Given the description of an element on the screen output the (x, y) to click on. 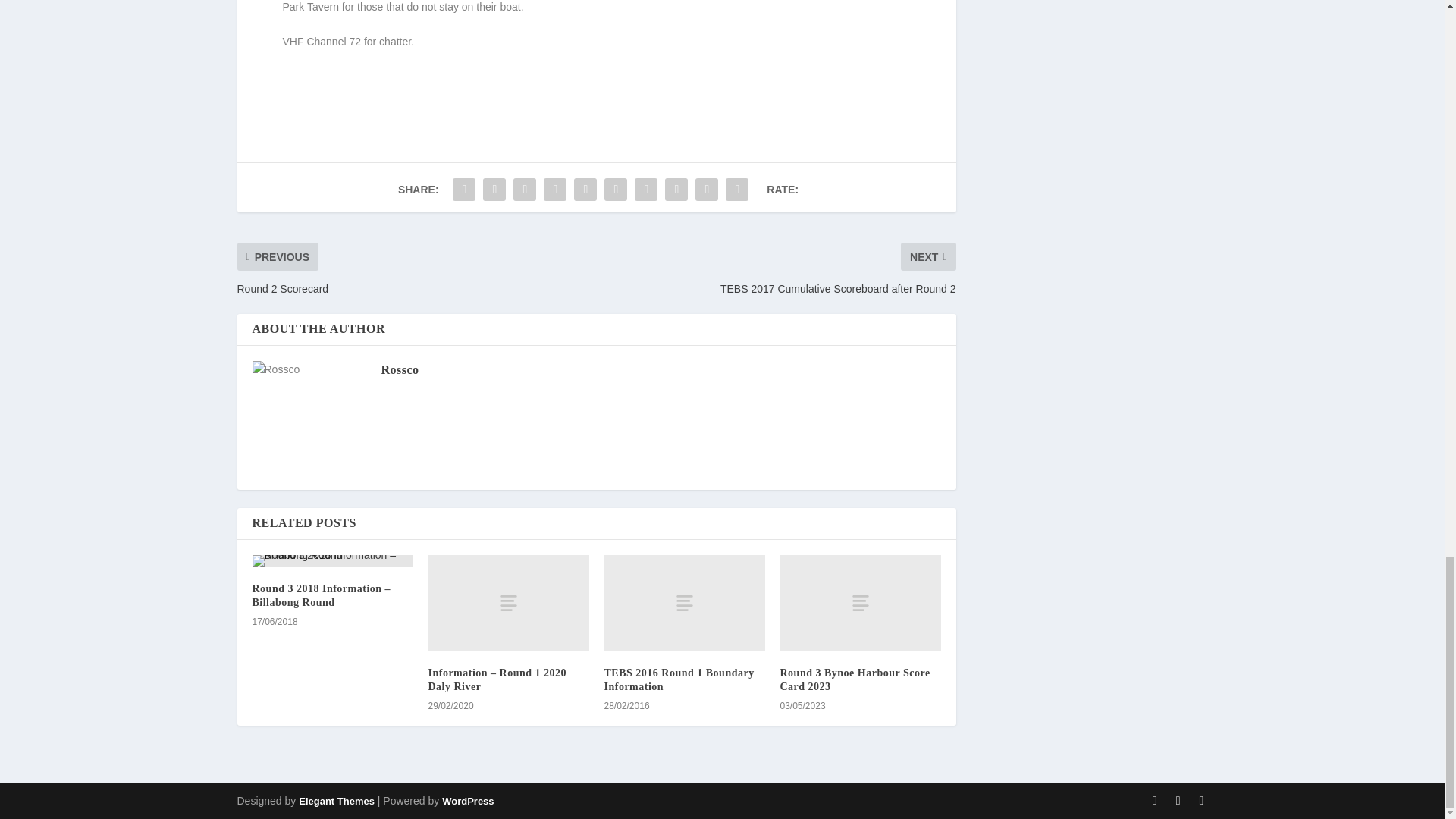
TEBS 2016 Round 1 Boundary Information (679, 679)
Rossco (399, 369)
View all posts by Rossco (399, 369)
Round 3 Bynoe Harbour Score Card 2023 (854, 679)
